Given the description of an element on the screen output the (x, y) to click on. 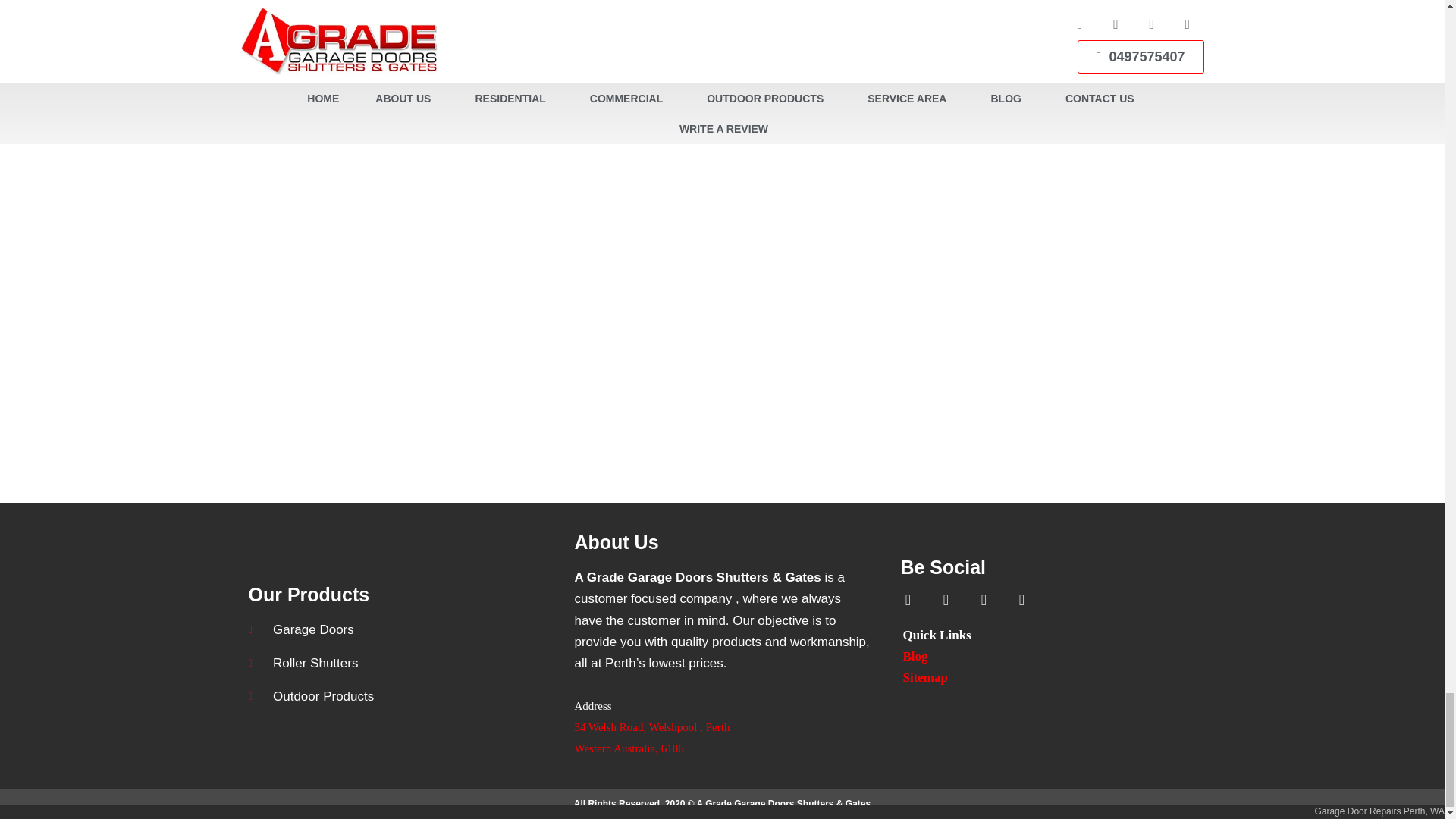
garage door (966, 28)
black industrial roller door (477, 28)
black home garage door (834, 132)
commercial roller doors (629, 132)
home black garage door (365, 132)
commercial roller doors (1059, 132)
